Given the description of an element on the screen output the (x, y) to click on. 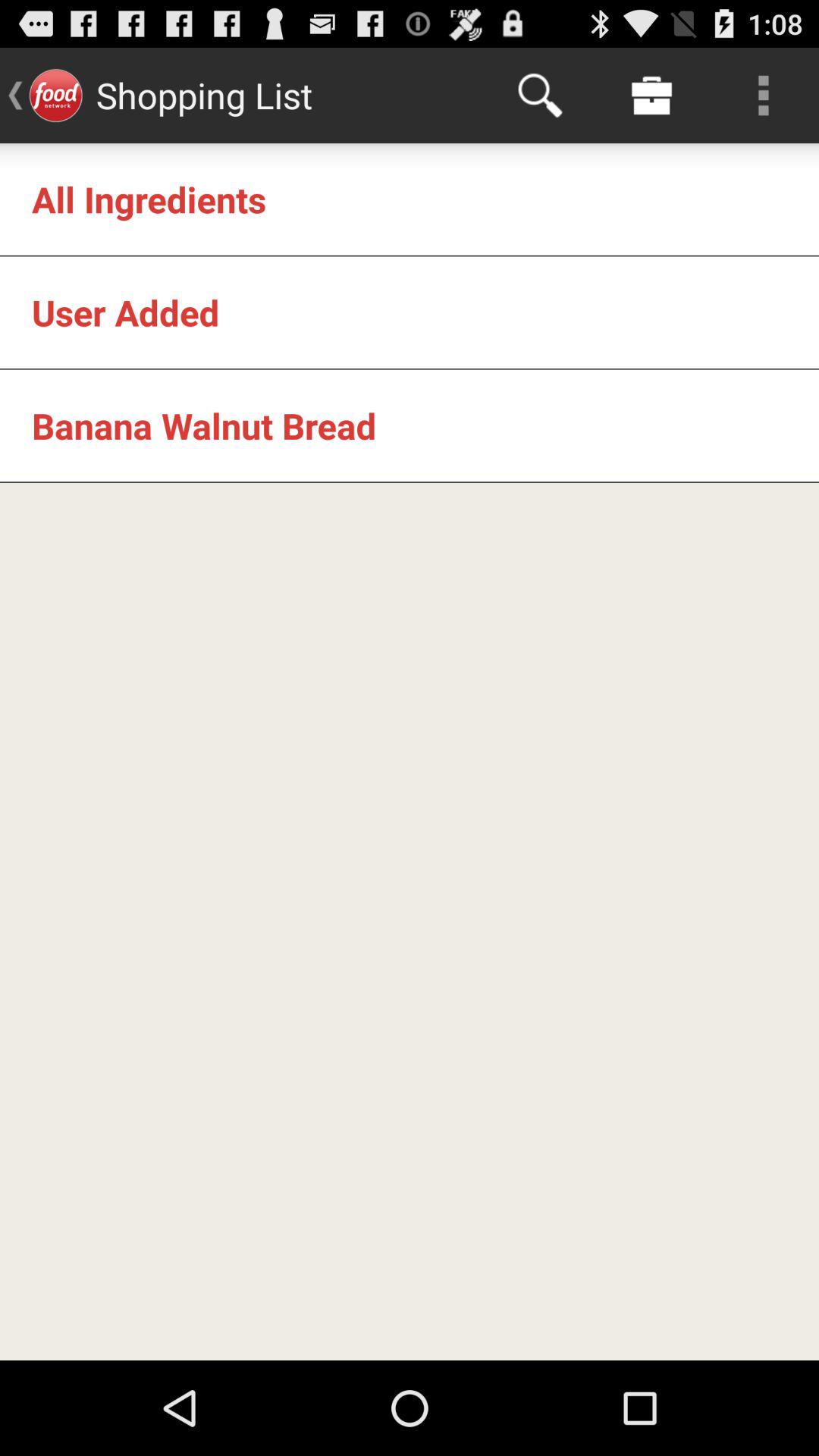
select icon below user added app (203, 425)
